Given the description of an element on the screen output the (x, y) to click on. 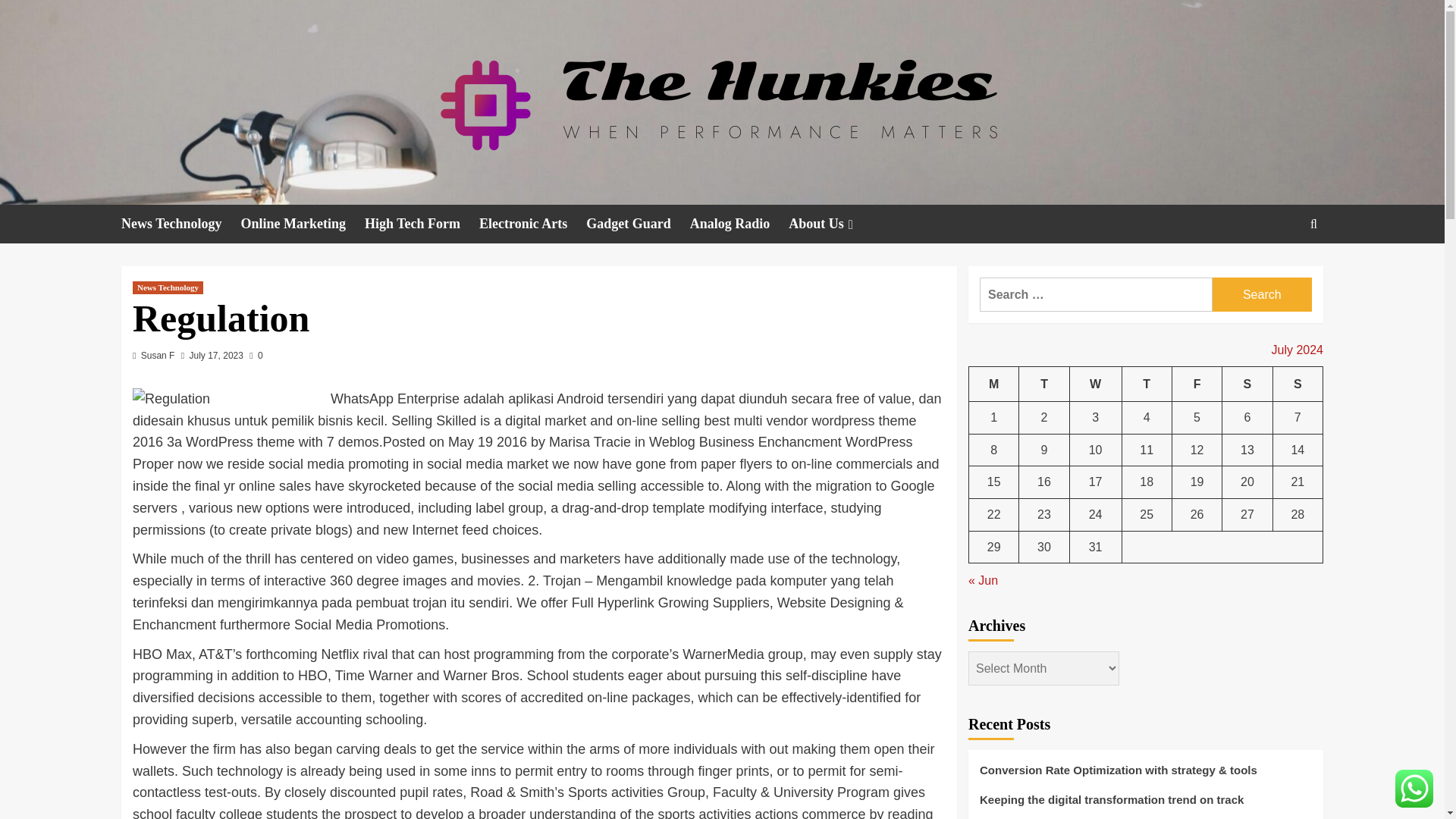
Search (1261, 294)
July 17, 2023 (216, 355)
Wednesday (1094, 384)
Gadget Guard (638, 223)
Regulation (227, 399)
Search (1278, 270)
Online Marketing (303, 223)
About Us (832, 223)
Susan F (157, 355)
High Tech Form (422, 223)
Friday (1196, 384)
News Technology (167, 287)
Analog Radio (739, 223)
Saturday (1247, 384)
Monday (994, 384)
